Given the description of an element on the screen output the (x, y) to click on. 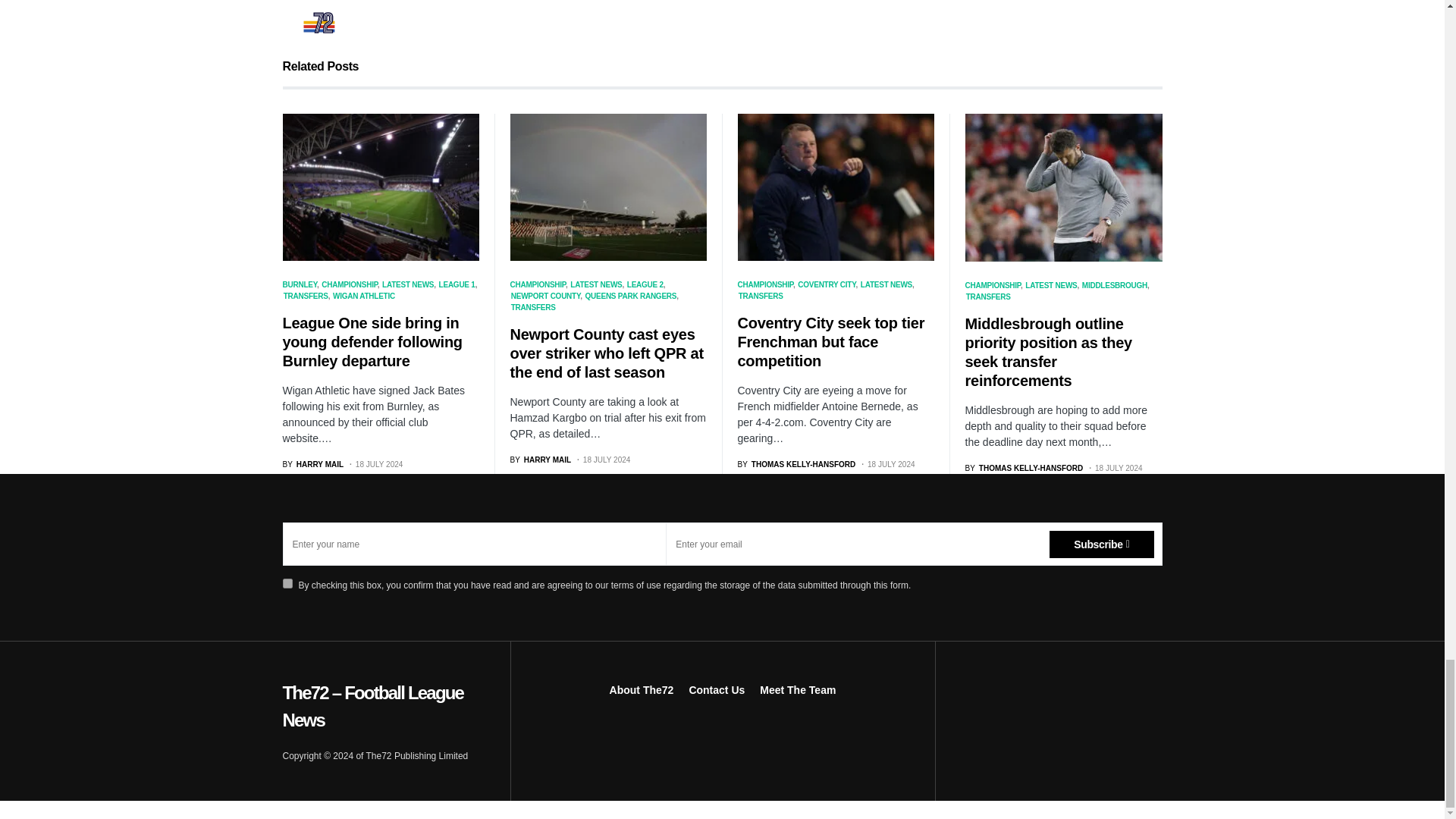
on (287, 583)
View all posts by Thomas Kelly-Hansford (796, 464)
View all posts by Harry Mail (312, 464)
View all posts by Harry Mail (539, 460)
View all posts by James Ray (700, 5)
View all posts by Thomas Kelly-Hansford (1023, 468)
